Given the description of an element on the screen output the (x, y) to click on. 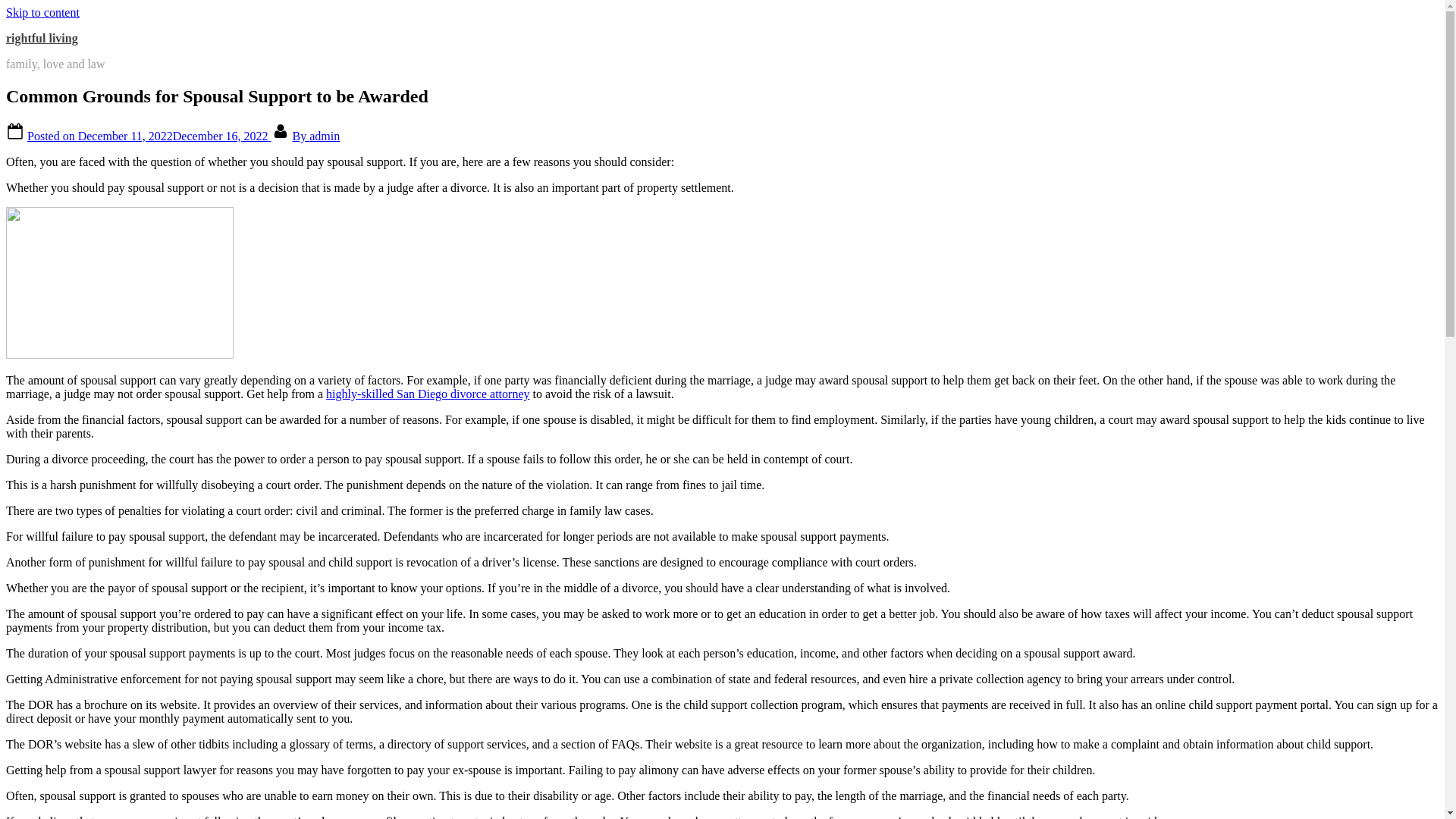
rightful living (41, 38)
highly-skilled San Diego divorce attorney (427, 393)
Skip to content (42, 11)
By admin (316, 135)
Posted on December 11, 2022December 16, 2022 (148, 135)
